Given the description of an element on the screen output the (x, y) to click on. 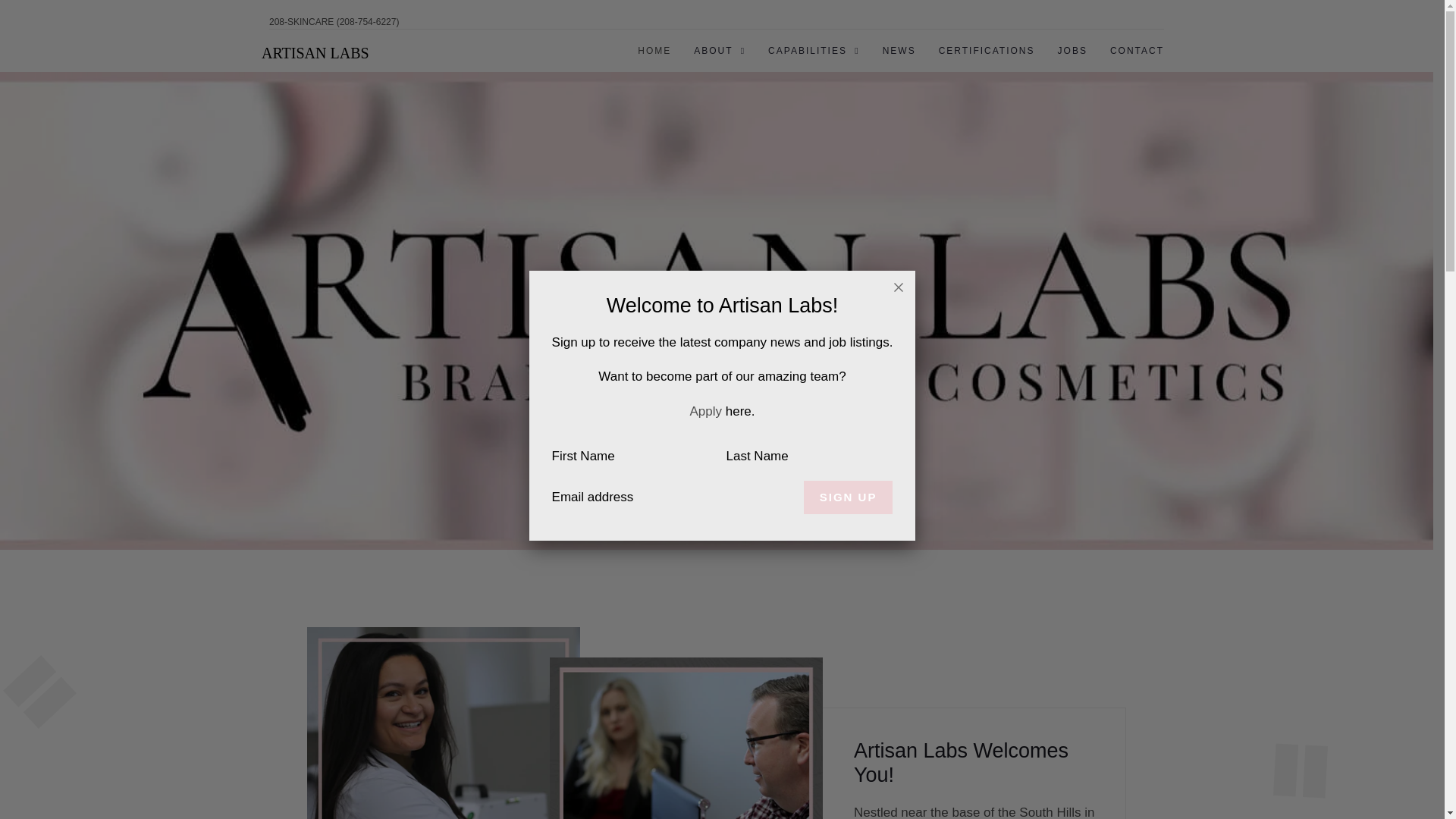
JOBS (1071, 50)
Sign Up (848, 497)
CERTIFICATIONS (986, 50)
ABOUT (718, 50)
HOME (654, 50)
Close (898, 287)
CONTACT (1137, 50)
NEWS (899, 50)
CAPABILITIES (813, 50)
ARTISAN LABS (315, 53)
